Given the description of an element on the screen output the (x, y) to click on. 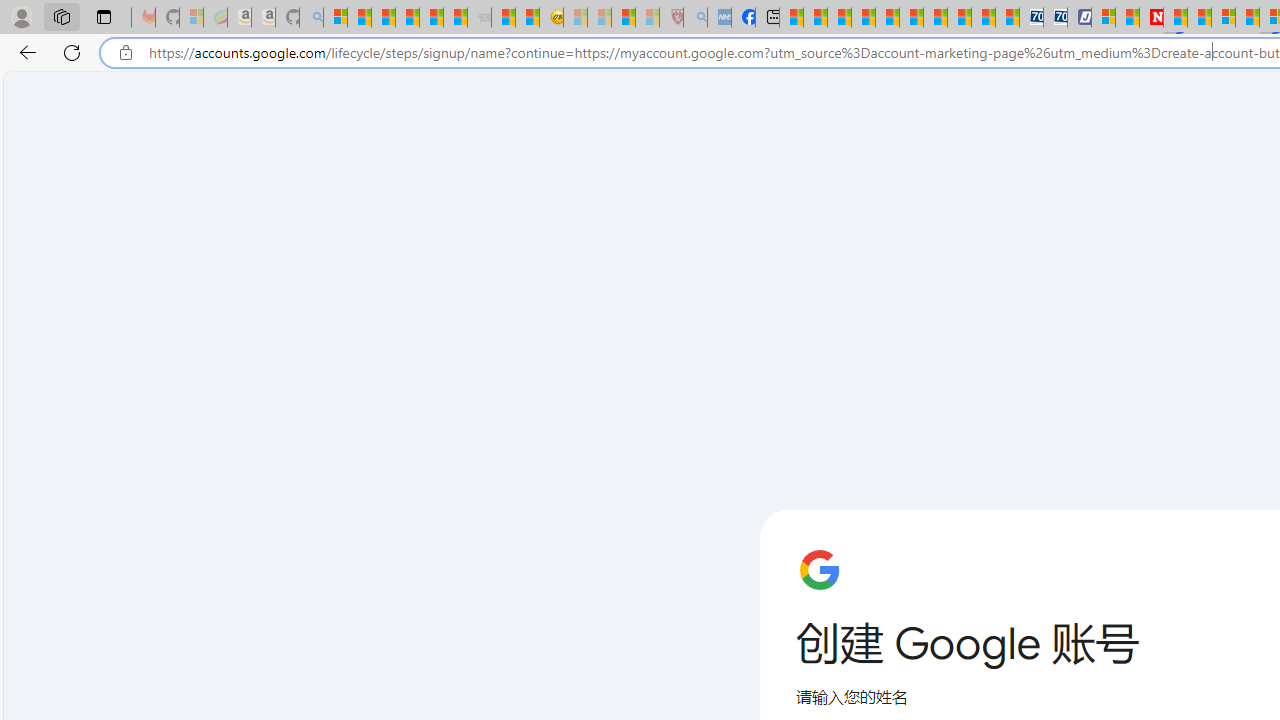
Cheap Hotels - Save70.com (1055, 17)
Climate Damage Becomes Too Severe To Reverse (863, 17)
Combat Siege - Sleeping (479, 17)
New Report Confirms 2023 Was Record Hot | Watch (430, 17)
